Given the description of an element on the screen output the (x, y) to click on. 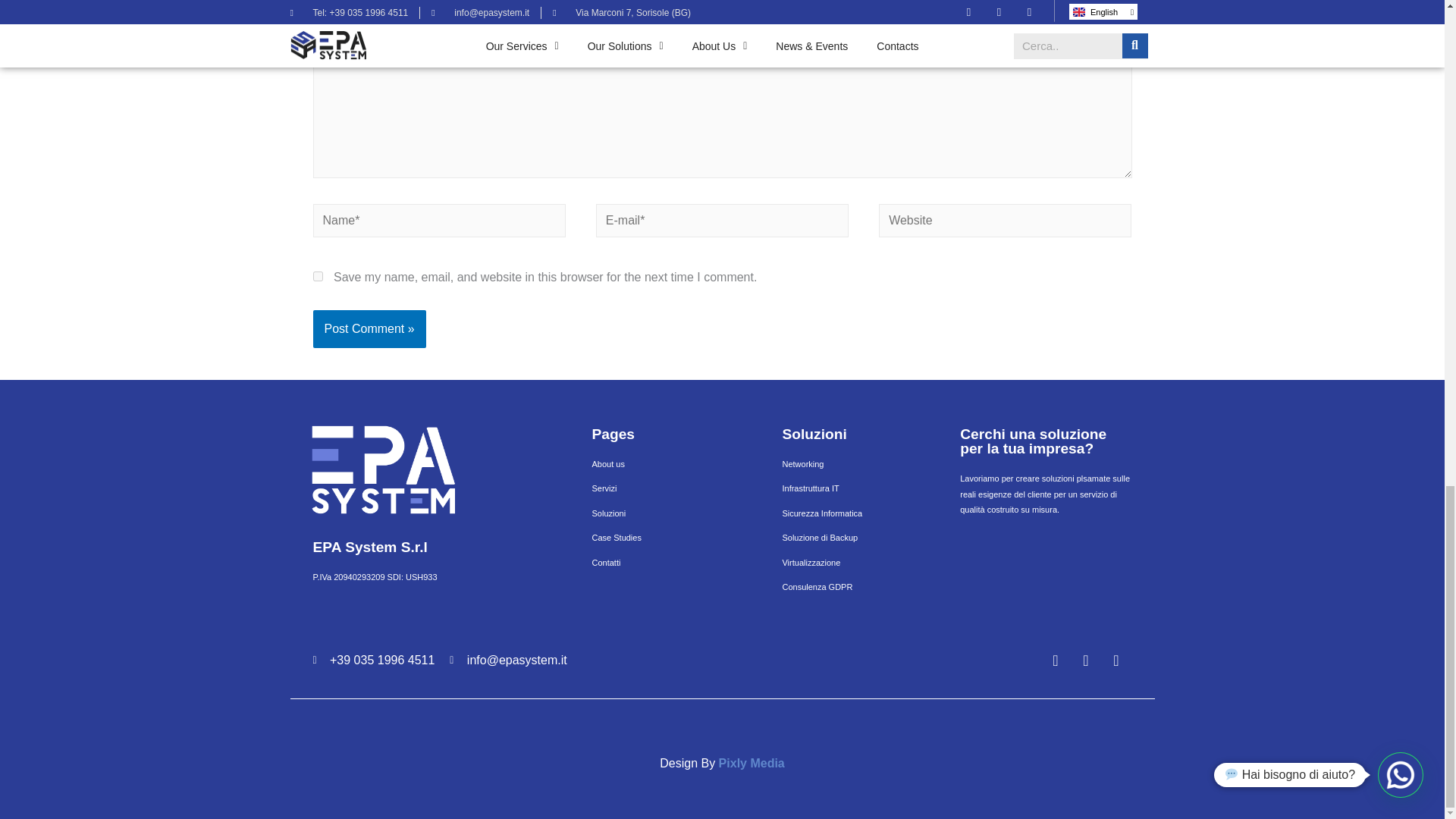
yes (317, 276)
